Given the description of an element on the screen output the (x, y) to click on. 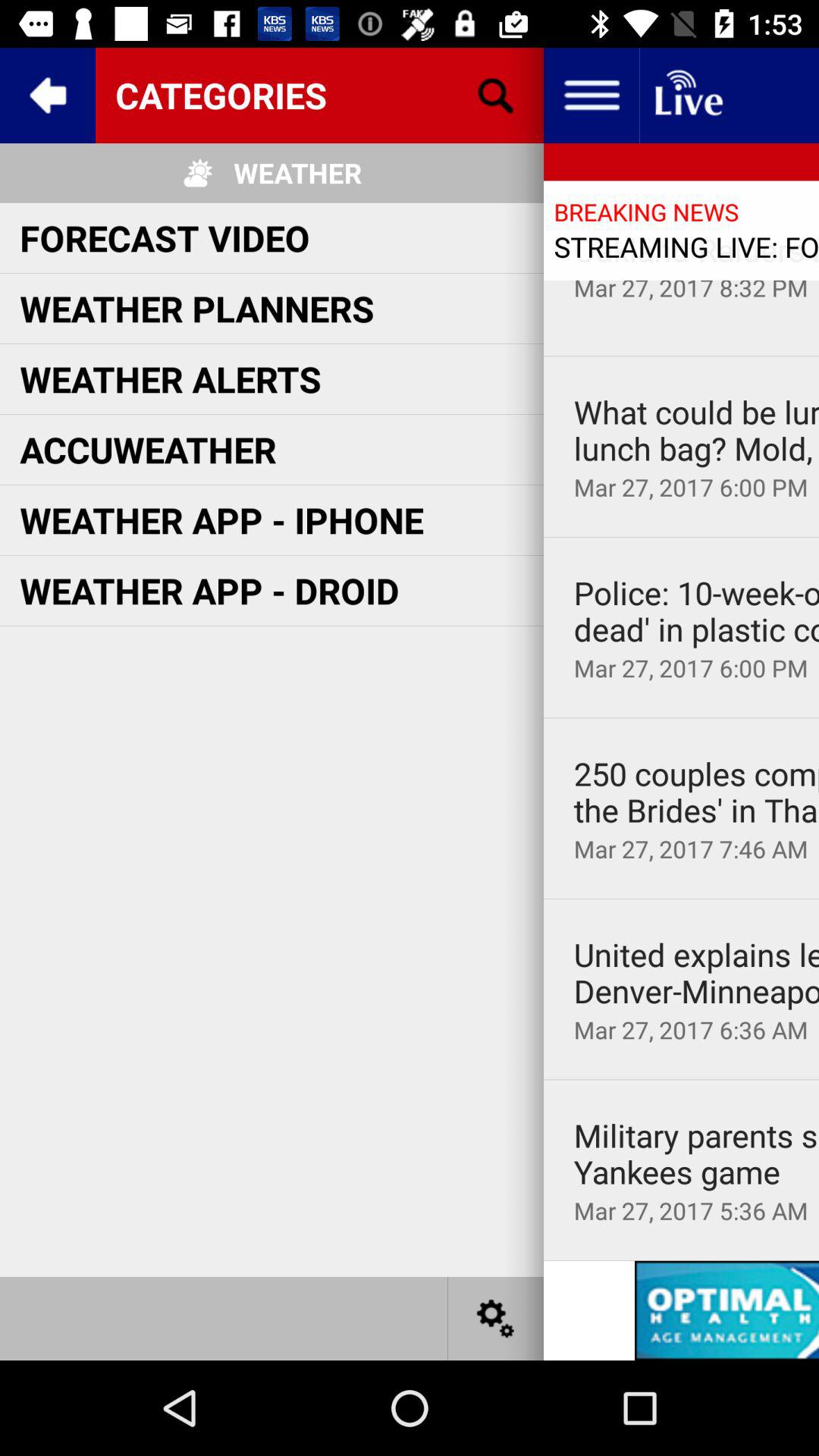
choose the icon below mar 27 2017 app (681, 717)
